Given the description of an element on the screen output the (x, y) to click on. 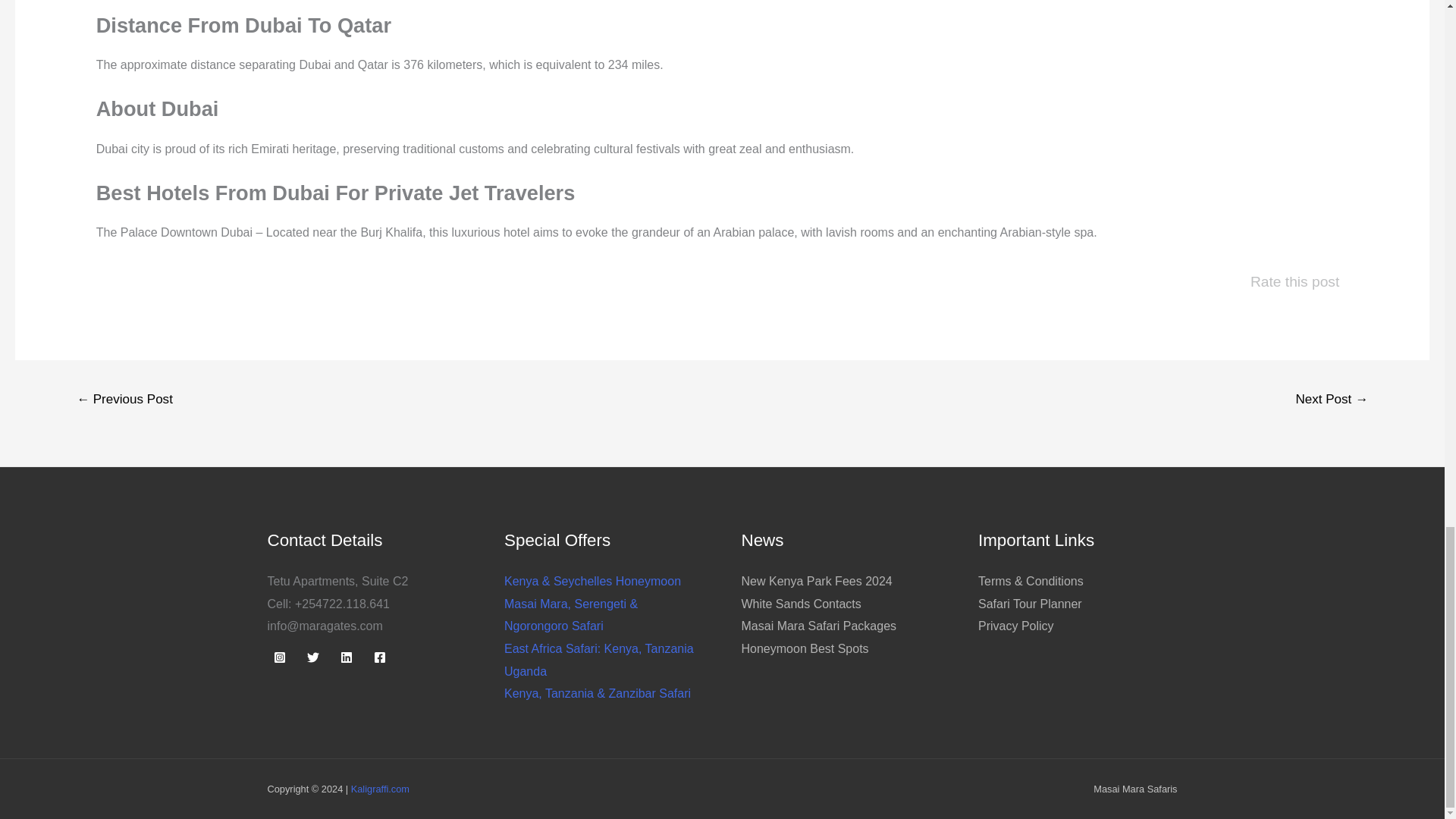
Privacy Policy (1016, 625)
White Sands Contacts (801, 603)
Safari Tour Planner (1029, 603)
Masai Mara Safari Packages (818, 625)
East Africa Safari: Kenya, Tanzania Uganda (598, 660)
New Kenya Park Fees 2024 (816, 581)
Kaligraffi.com (379, 788)
Honeymoon Best Spots (805, 648)
